Given the description of an element on the screen output the (x, y) to click on. 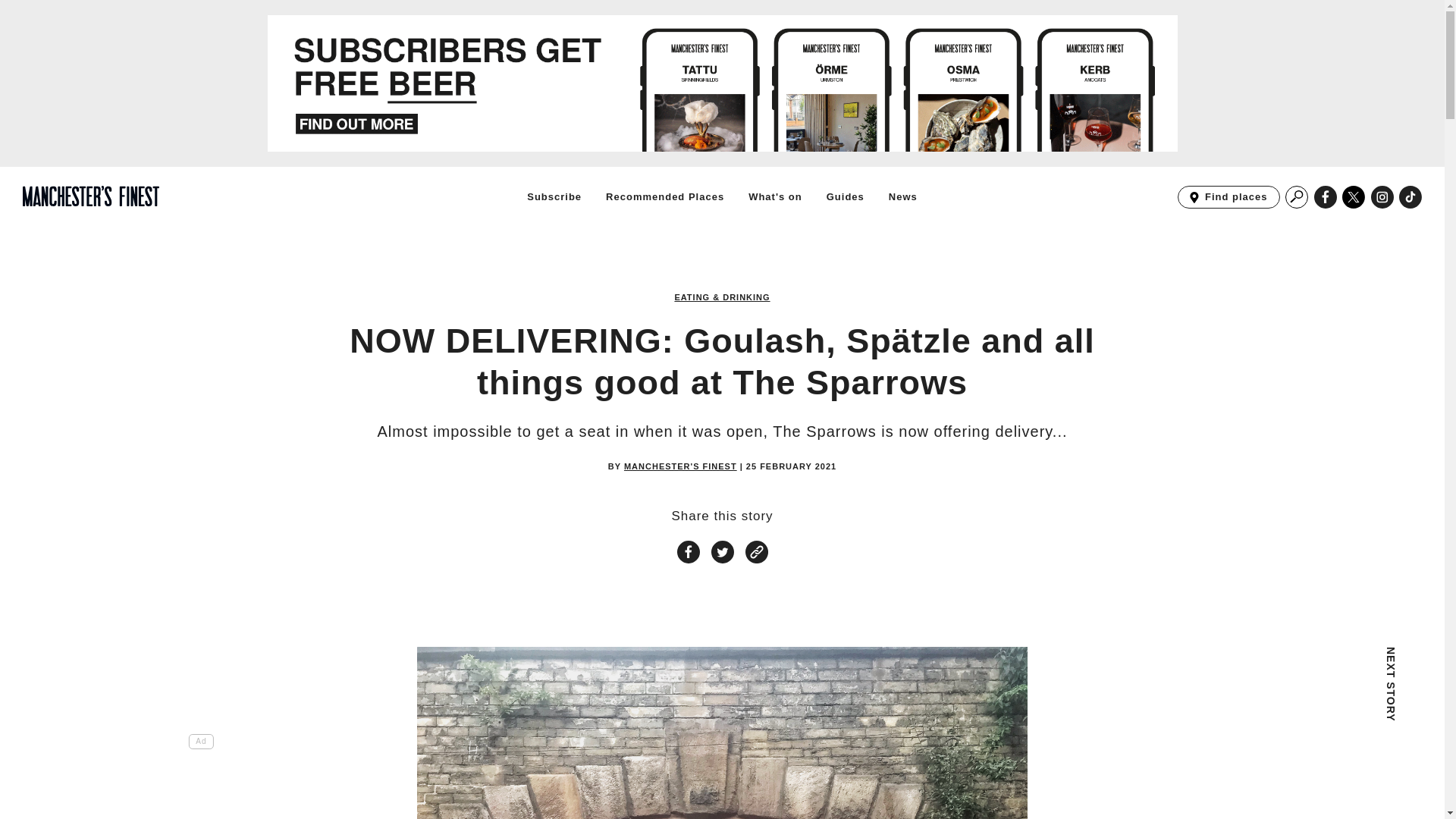
Go to Manchester's Finest X profile (1353, 196)
NEXT STORY (1297, 690)
Guides (845, 196)
Go to Manchester's Finest Instagram profile (1382, 196)
What's on (775, 196)
Go to Manchester's Finest X profile (1353, 196)
Go to Manchester's Finest TikTok profile (1228, 196)
Go to Manchester's Finest Facebook page (1410, 196)
Recommended Places (1325, 196)
